Given the description of an element on the screen output the (x, y) to click on. 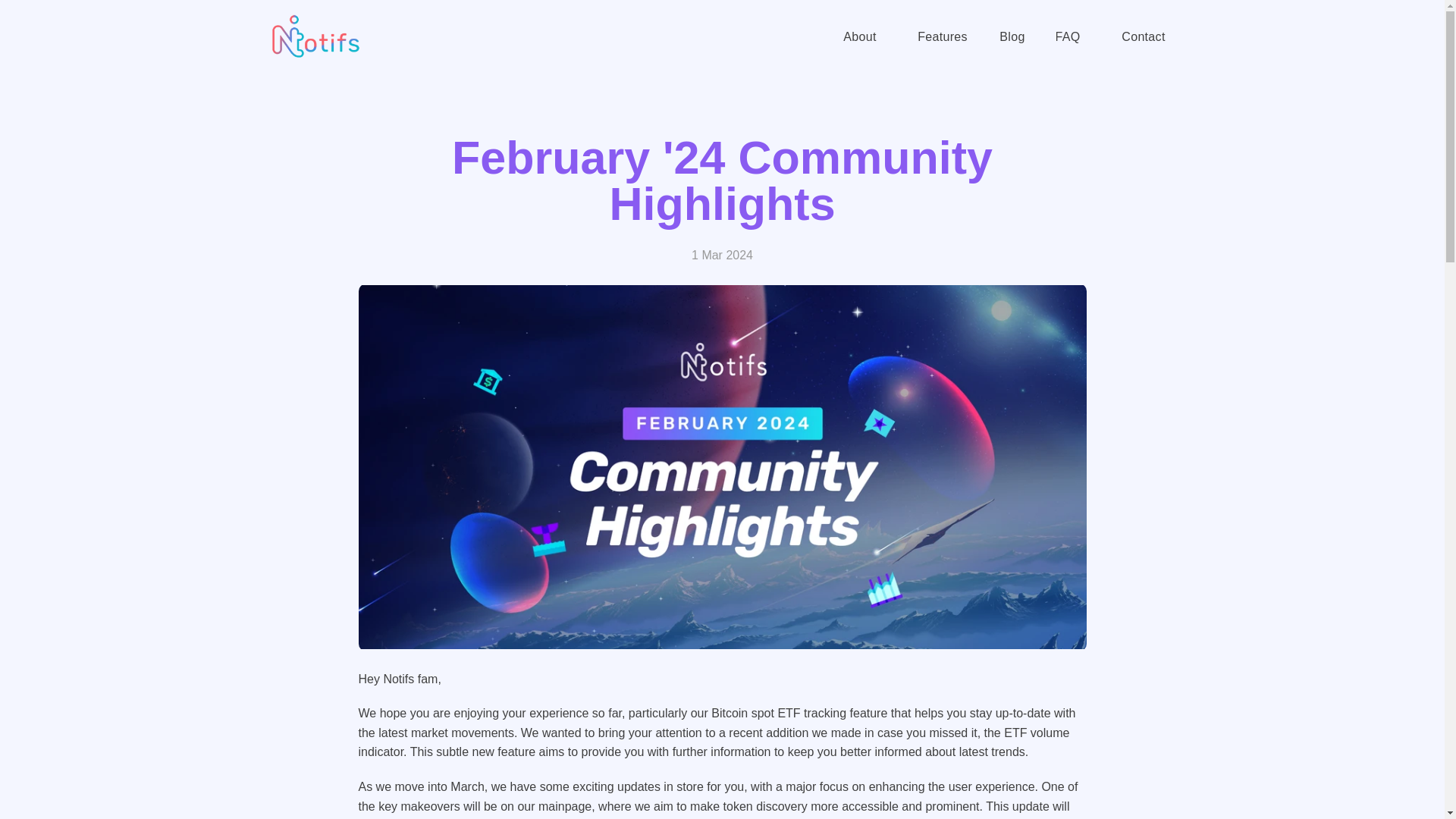
Contact (1142, 36)
Features (942, 36)
Blog (1011, 36)
FAQ (1067, 36)
About (859, 36)
